Given the description of an element on the screen output the (x, y) to click on. 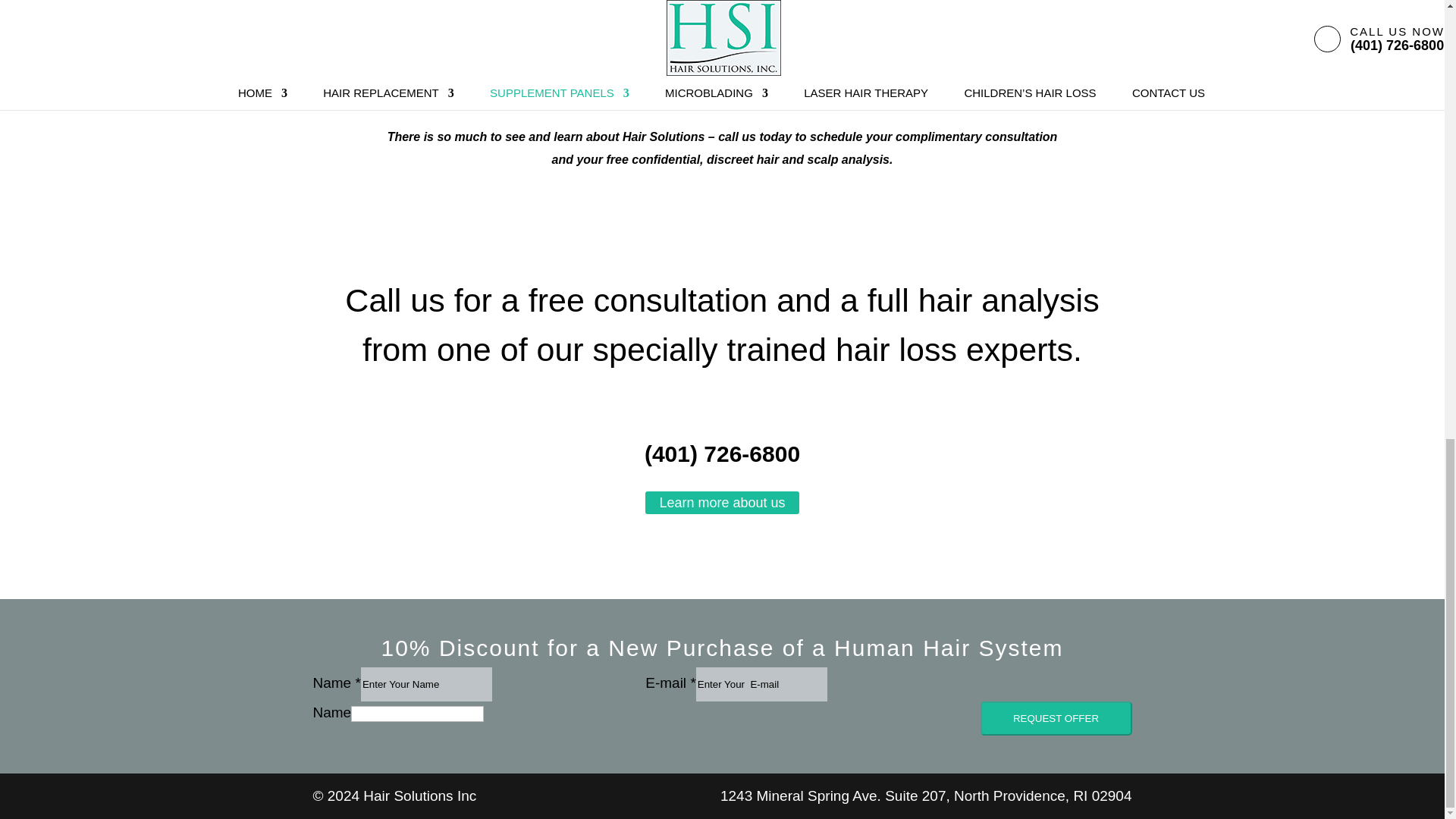
Learn more about us (721, 503)
REQUEST OFFER (1055, 718)
